Given the description of an element on the screen output the (x, y) to click on. 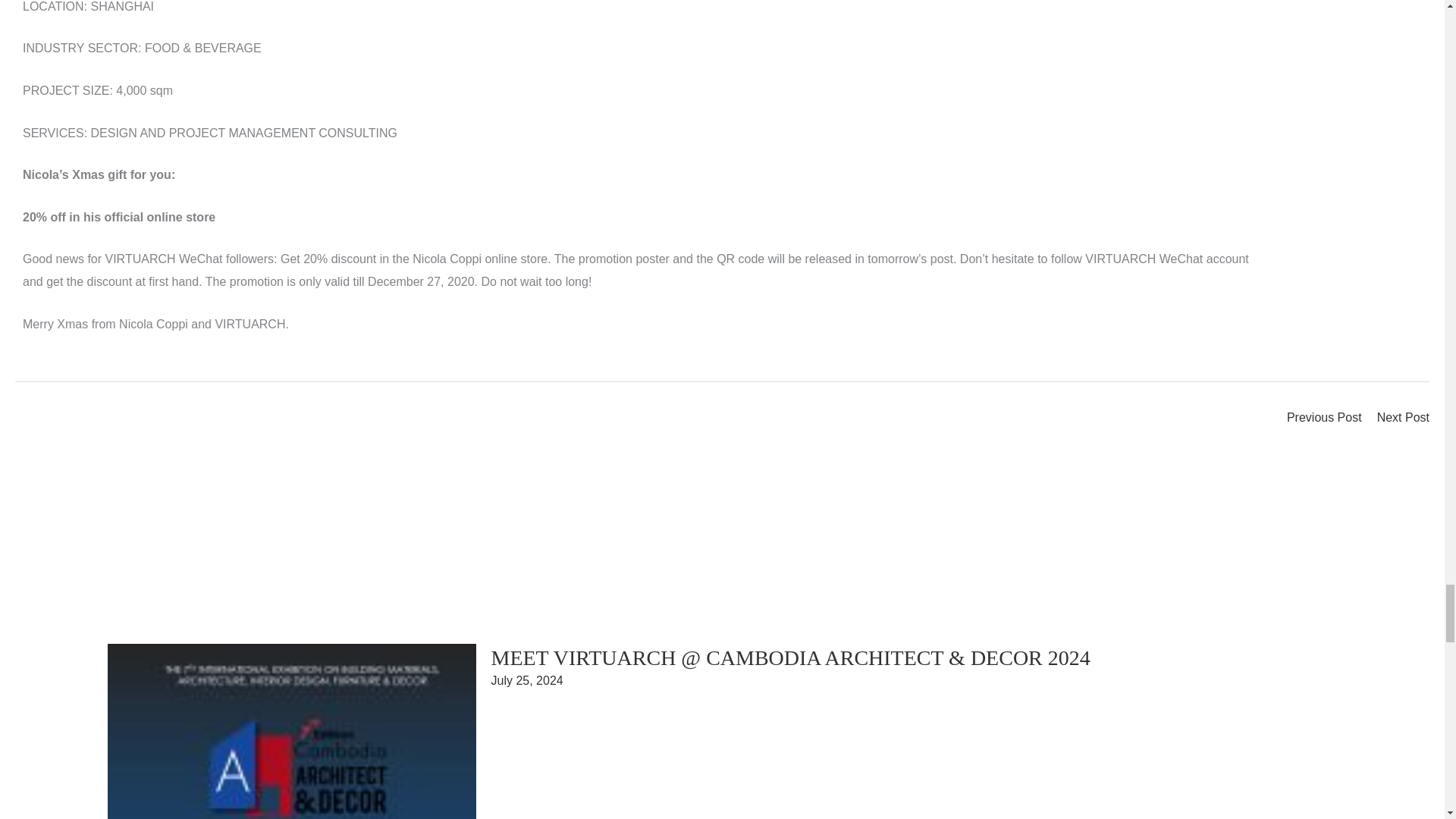
Previous Post (1324, 423)
DESIGNING AND REALIZING SUCCESSFUL RESTAURANTS (1324, 423)
Next Post (1403, 423)
A premium site for SULZER Pumps (1403, 423)
